Given the description of an element on the screen output the (x, y) to click on. 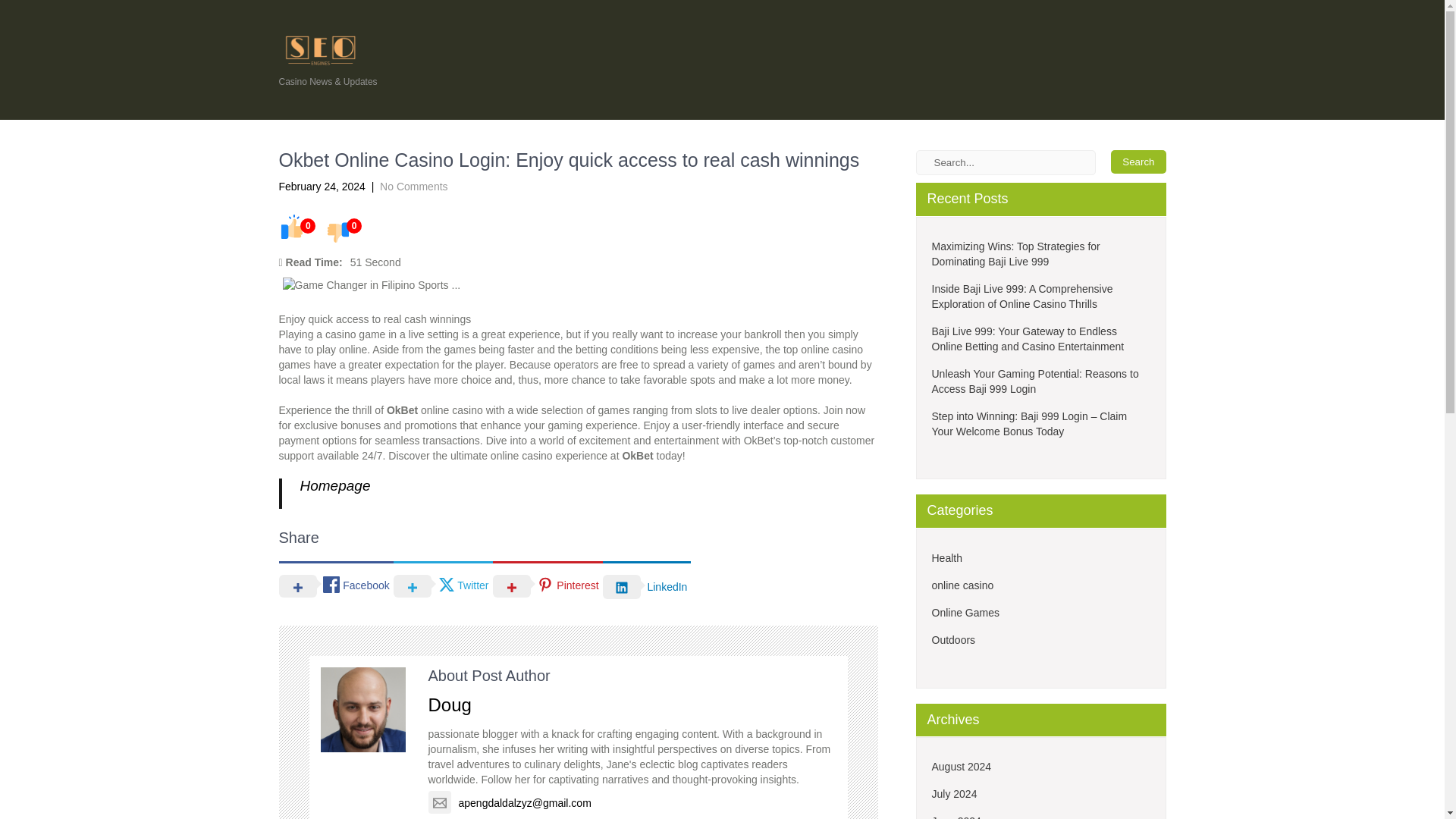
Facebook (336, 585)
Pinterest (547, 585)
Doug (449, 704)
LinkedIn (646, 585)
Search (1138, 161)
Search (1138, 161)
No Comments (413, 186)
Maximizing Wins: Top Strategies for Dominating Baji Live 999 (1040, 254)
Search (1138, 161)
